Given the description of an element on the screen output the (x, y) to click on. 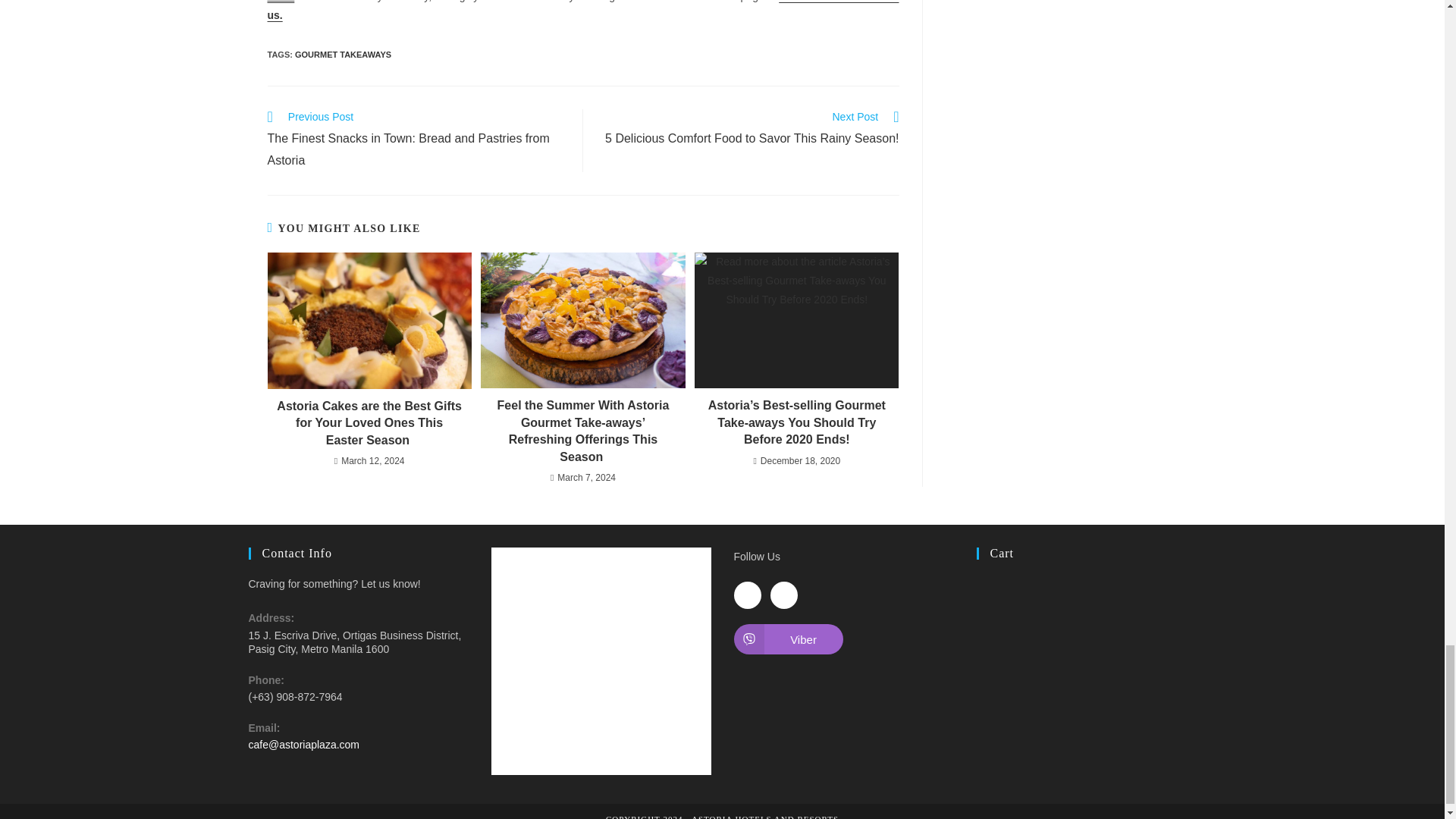
Share on Viber (788, 639)
GOURMET TAKEAWAYS (343, 53)
